Given the description of an element on the screen output the (x, y) to click on. 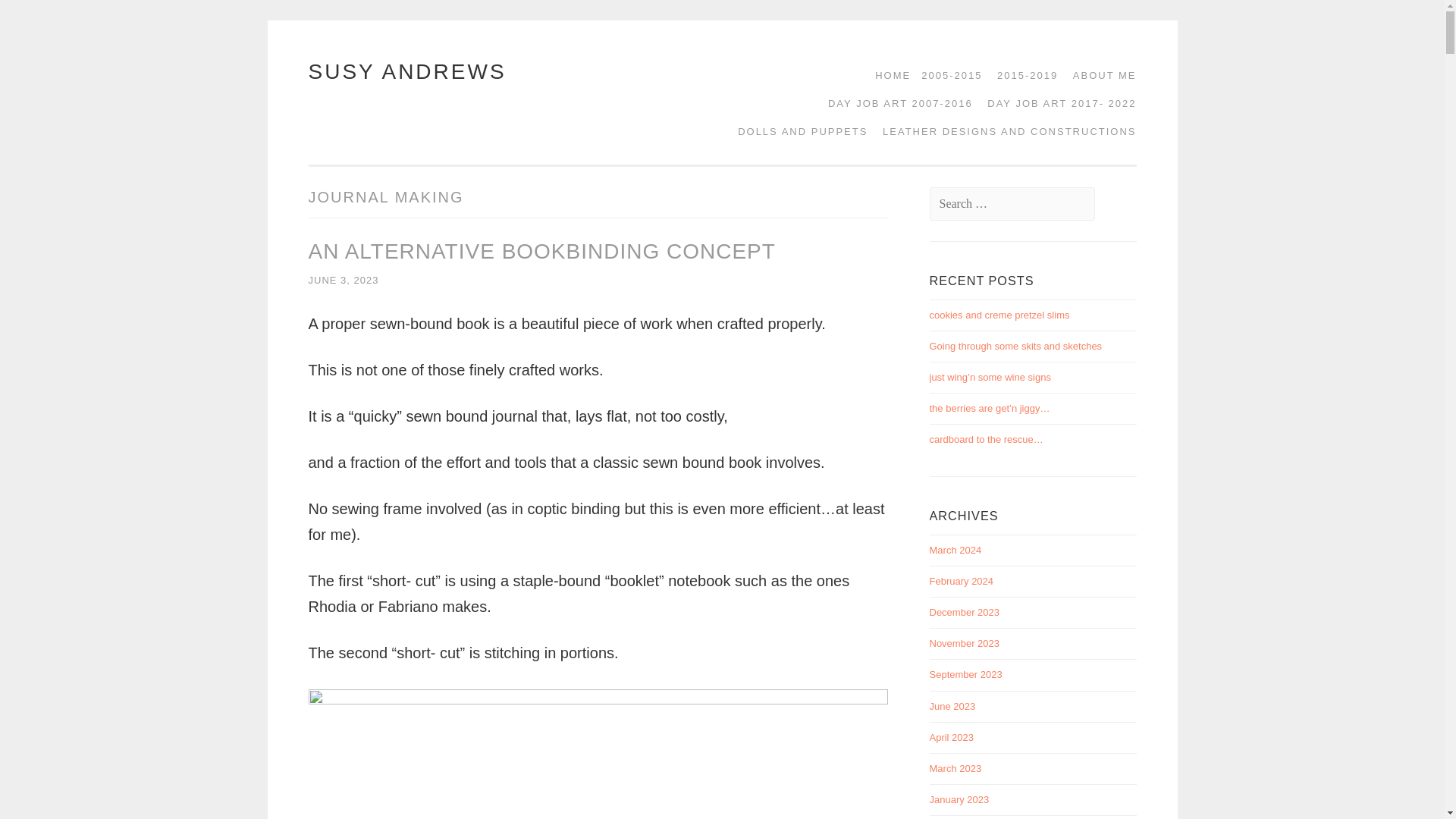
June 2023 (952, 706)
December 2023 (965, 612)
2015-2019 (1022, 75)
JUNE 3, 2023 (342, 279)
DAY JOB ART 2017- 2022 (1055, 103)
March 2023 (955, 767)
LEATHER DESIGNS AND CONSTRUCTIONS (1003, 131)
March 2024 (955, 550)
ABOUT ME (1099, 75)
DAY JOB ART 2007-2016 (894, 103)
